Given the description of an element on the screen output the (x, y) to click on. 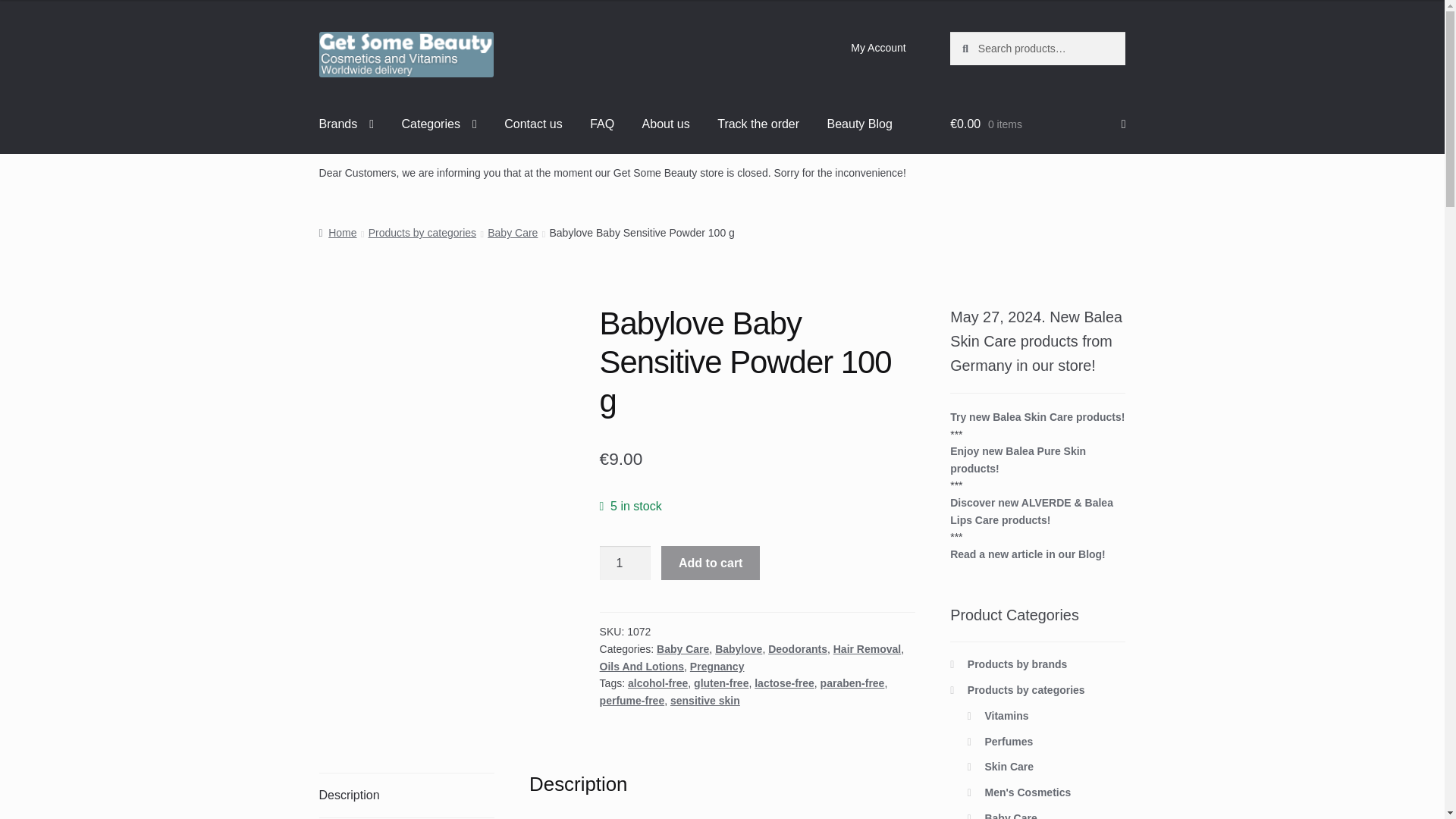
View your shopping cart (1037, 124)
1 (624, 563)
Brands (347, 124)
My Account (878, 47)
